Given the description of an element on the screen output the (x, y) to click on. 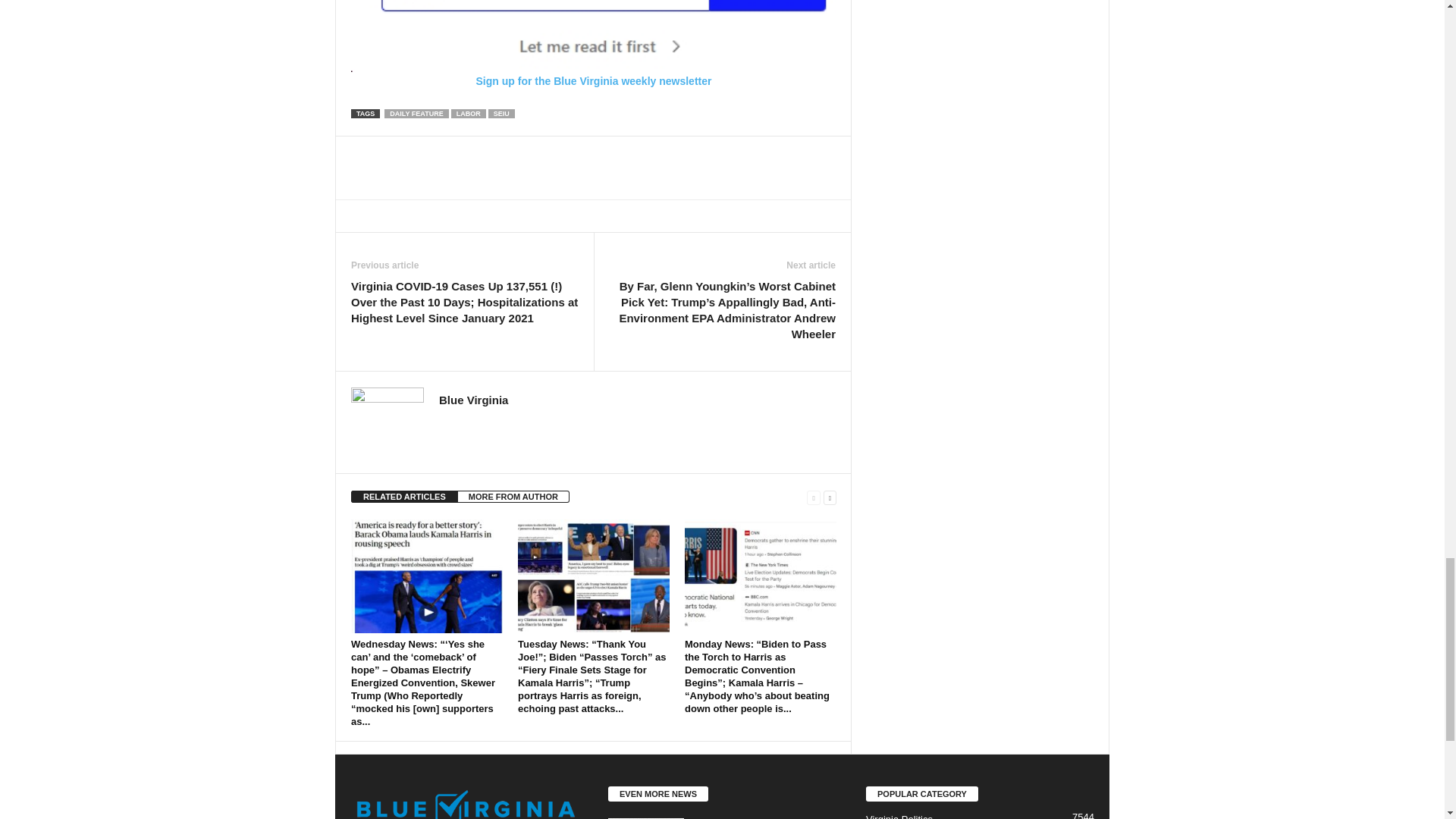
DAILY FEATURE (416, 112)
Sign up for the Blue Virginia weekly newsletter (592, 43)
SEIU (501, 112)
LABOR (468, 112)
